Given the description of an element on the screen output the (x, y) to click on. 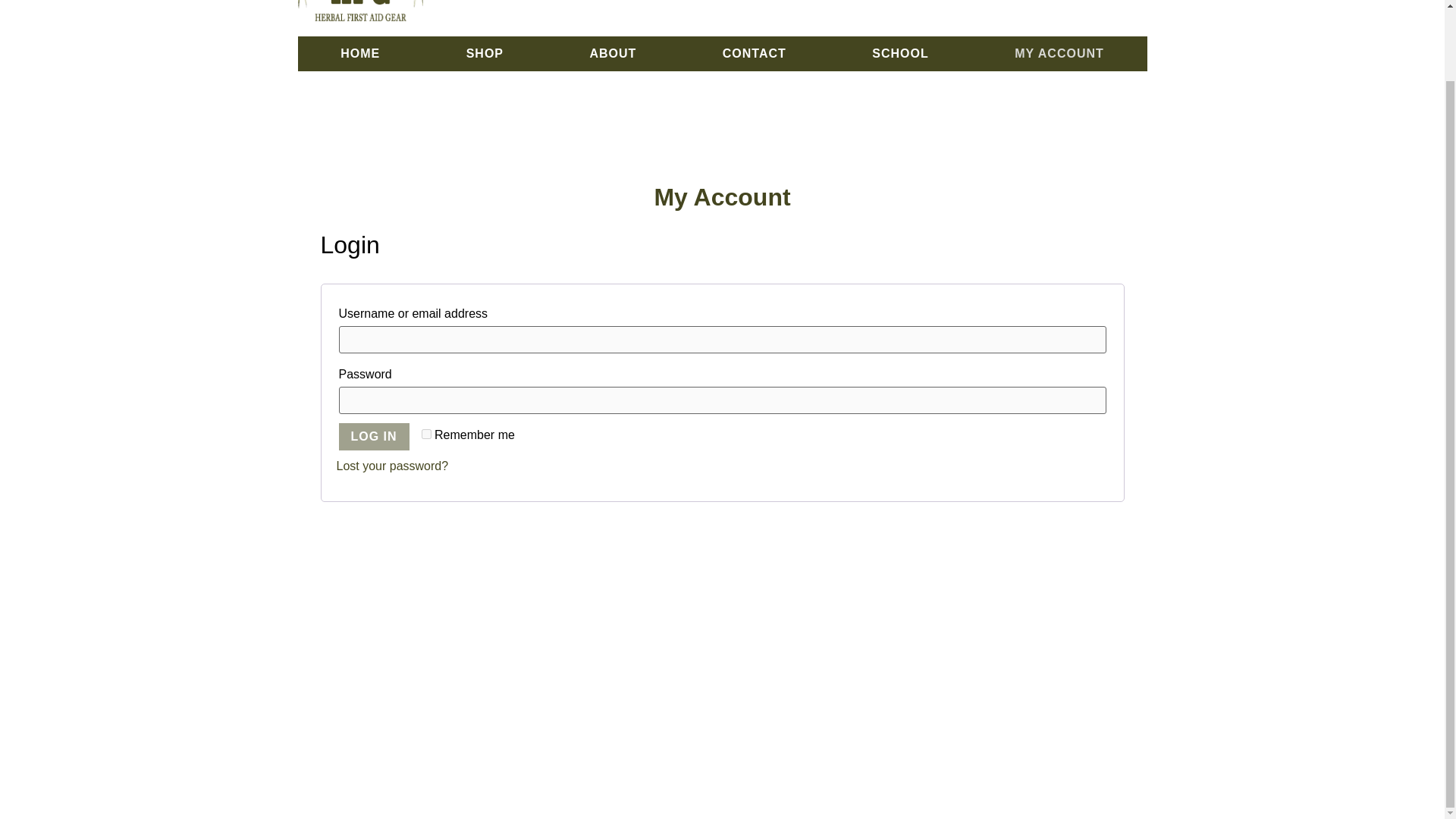
LOG IN (373, 436)
Lost your password? (392, 465)
forever (426, 433)
SQUEESOME (914, 804)
SCHOOL (900, 53)
MY ACCOUNT (1059, 53)
CONTACT (753, 53)
HOME (359, 53)
ABOUT (613, 53)
SHOP (485, 53)
